Given the description of an element on the screen output the (x, y) to click on. 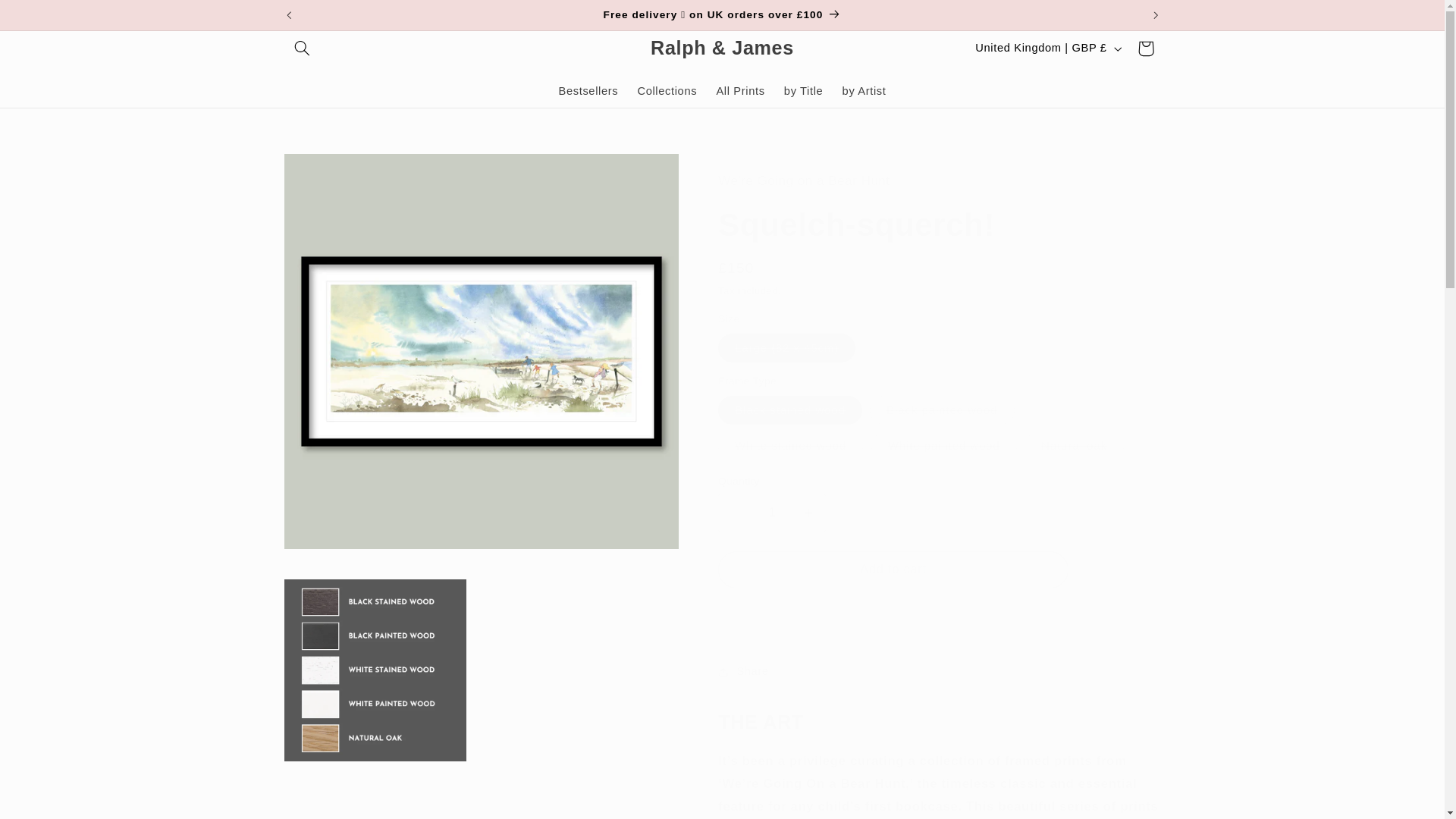
Collections (666, 90)
1 (771, 512)
All Prints (740, 90)
Cart (1145, 48)
by Title (803, 90)
Skip to product information (331, 171)
Open media 4 in modal (374, 670)
